Given the description of an element on the screen output the (x, y) to click on. 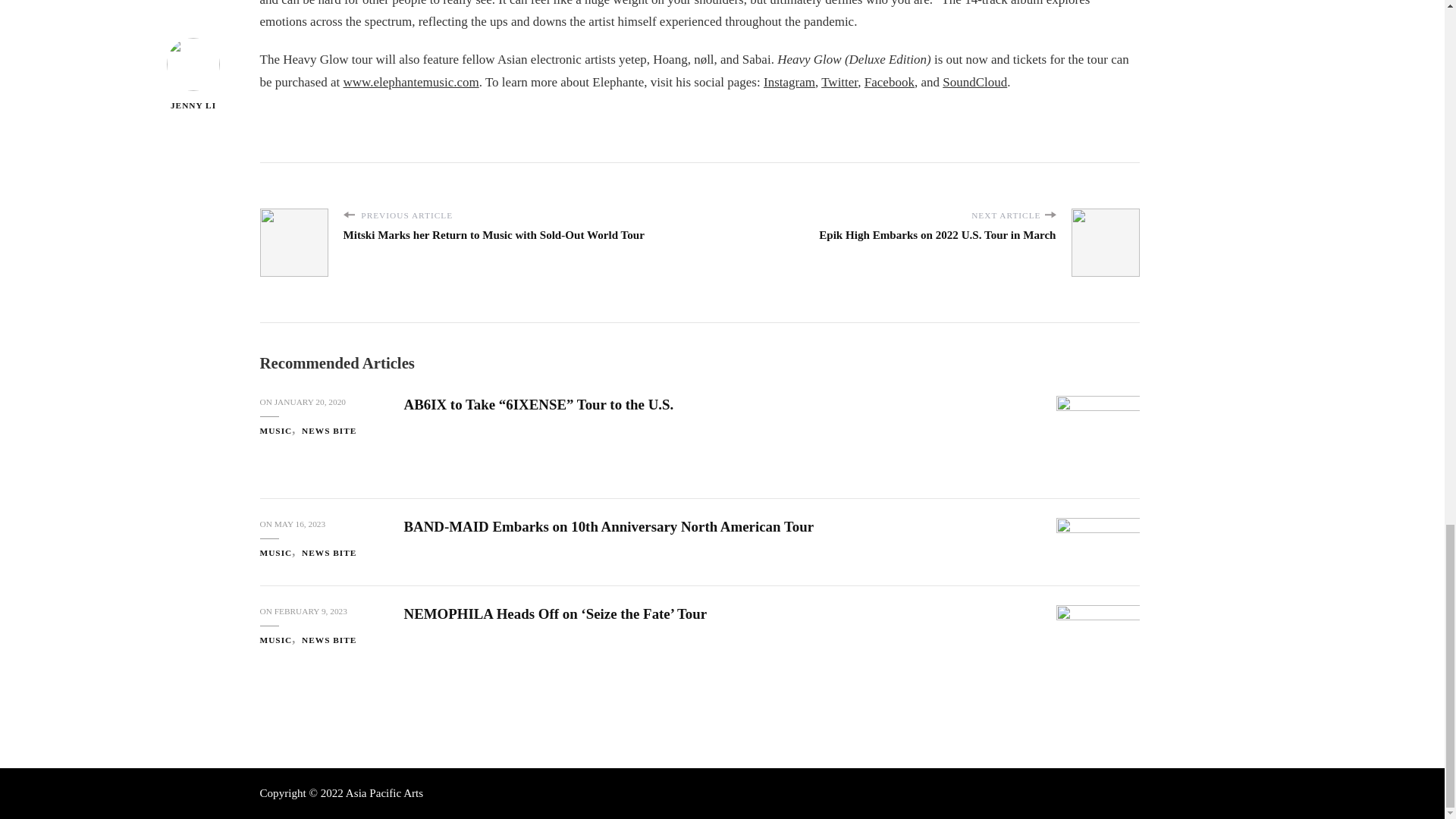
BAND-MAID Embarks on 10th Anniversary North American Tour (608, 526)
Facebook (889, 82)
NEWS BITE (328, 553)
MUSIC (279, 431)
JANUARY 20, 2020 (310, 401)
FEBRUARY 9, 2023 (311, 611)
Twitter (839, 82)
www.elephantemusic.com (410, 82)
MUSIC (279, 553)
SoundCloud (974, 82)
